Given the description of an element on the screen output the (x, y) to click on. 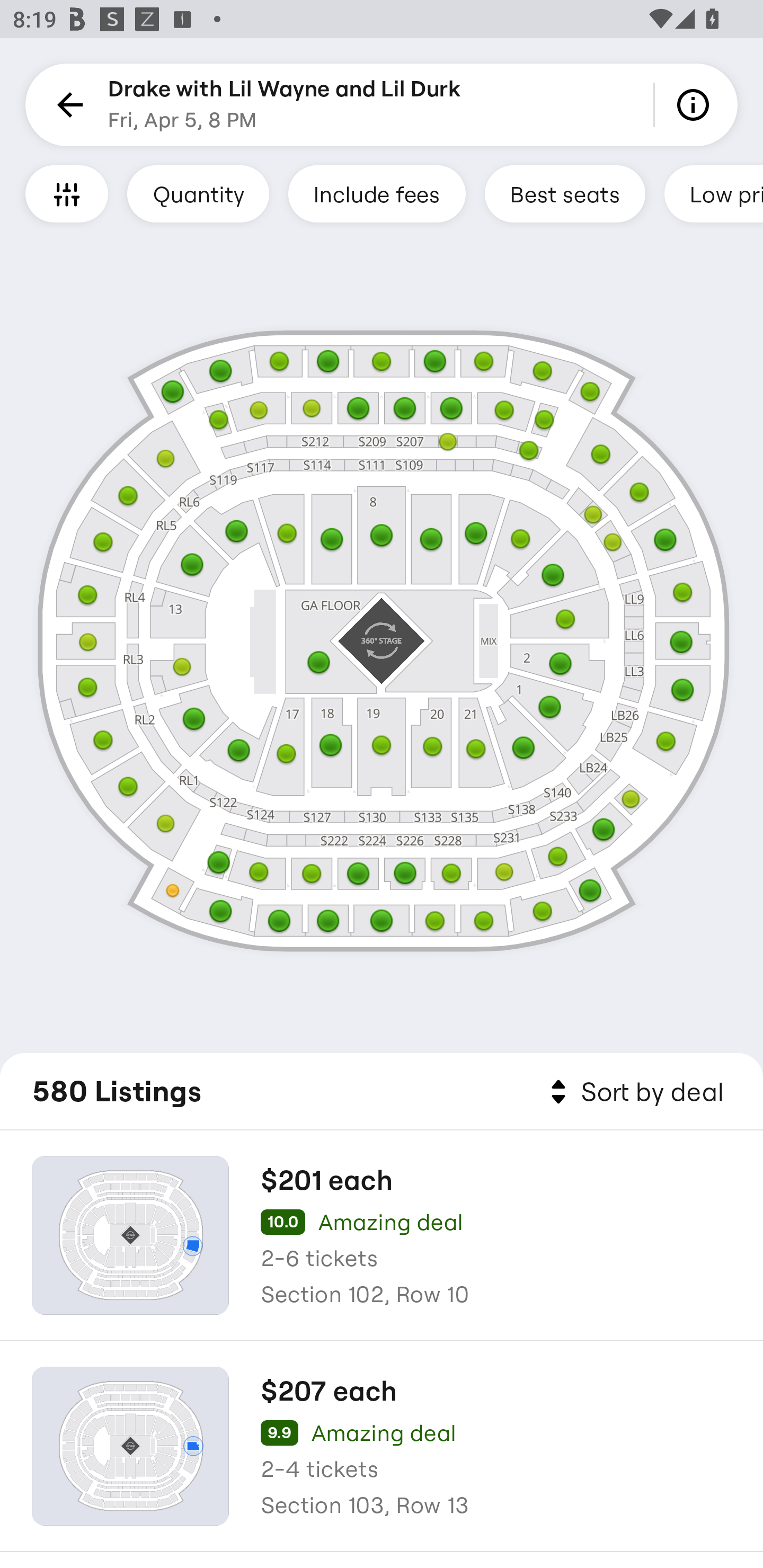
Back (66, 104)
Drake with Lil Wayne and Lil Durk Fri, Apr 5, 8 PM (284, 104)
Info (695, 104)
Filters and Accessible Seating (66, 193)
Quantity (198, 193)
Include fees (376, 193)
Best seats (564, 193)
Sort by deal (633, 1091)
